Given the description of an element on the screen output the (x, y) to click on. 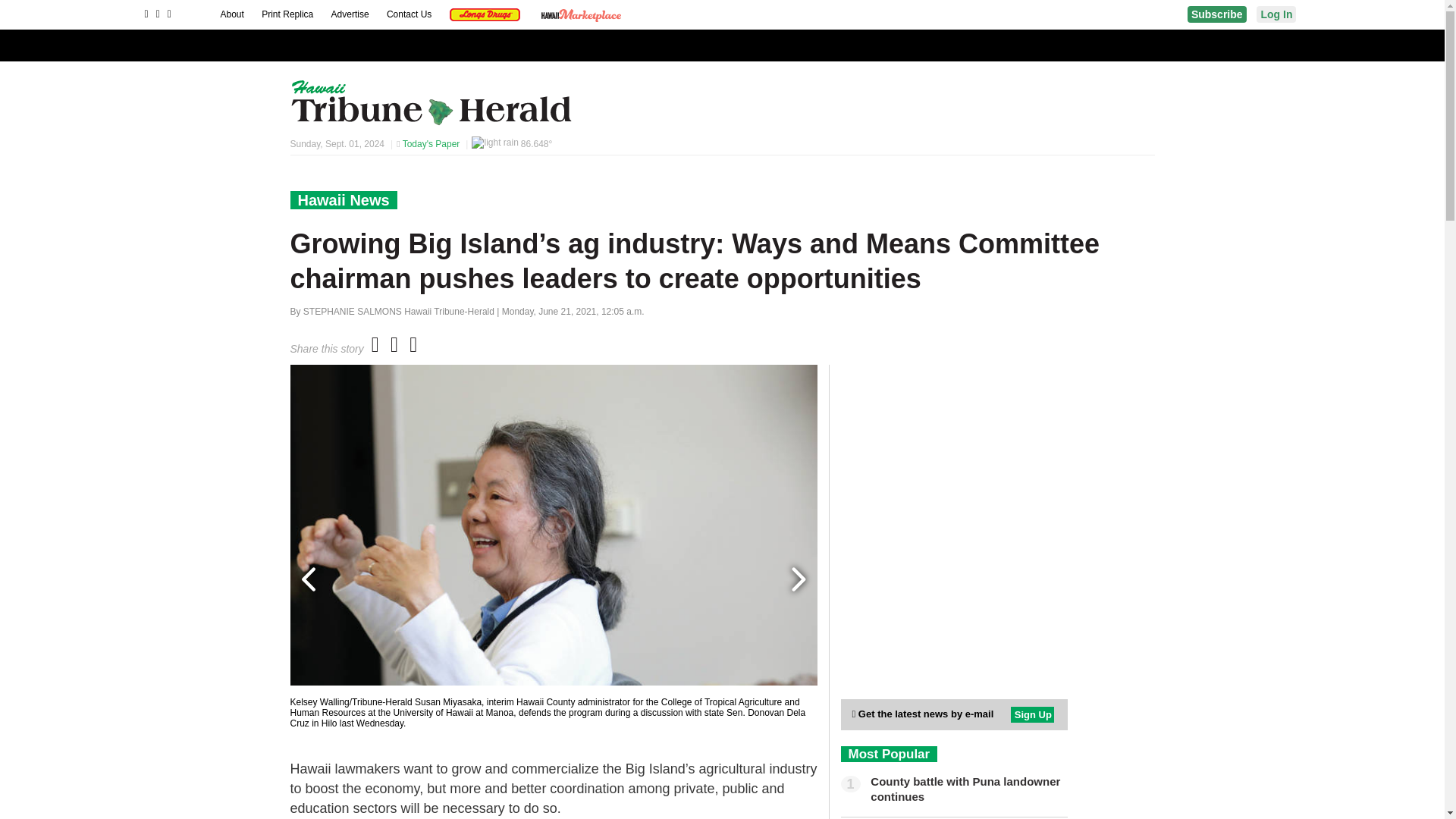
About (232, 14)
Contact Us (410, 14)
Log In (1275, 13)
Print Replica (288, 14)
Subscribe (1217, 13)
Advertise (351, 14)
